Given the description of an element on the screen output the (x, y) to click on. 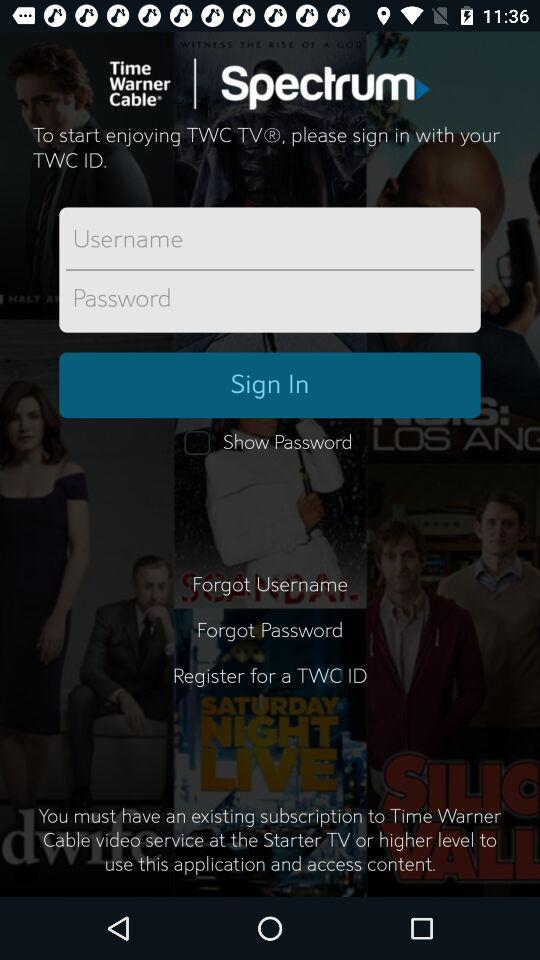
select the icon below forgot password icon (270, 688)
